Given the description of an element on the screen output the (x, y) to click on. 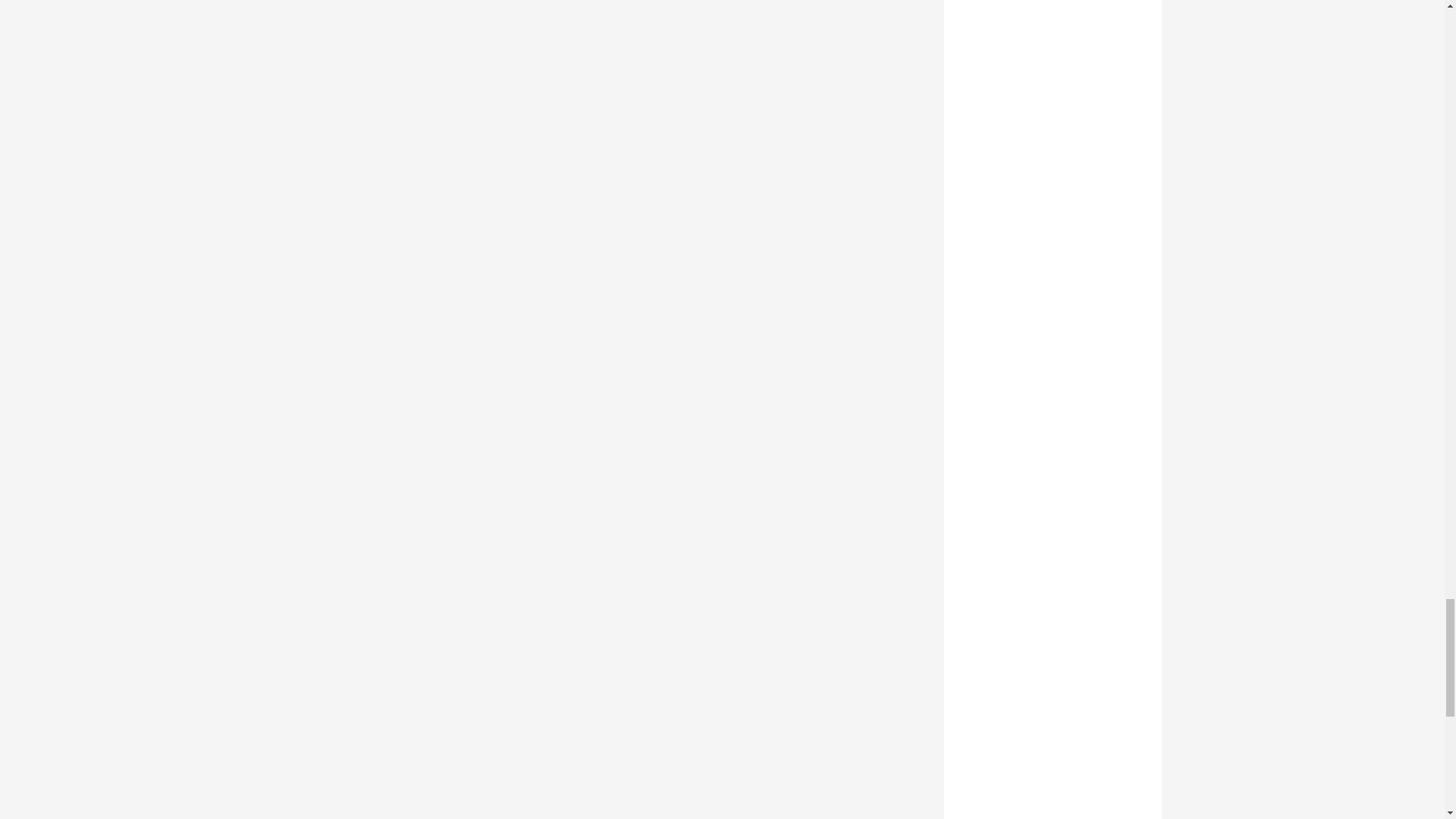
Advertisement (1051, 31)
Advertisement (1051, 714)
